Given the description of an element on the screen output the (x, y) to click on. 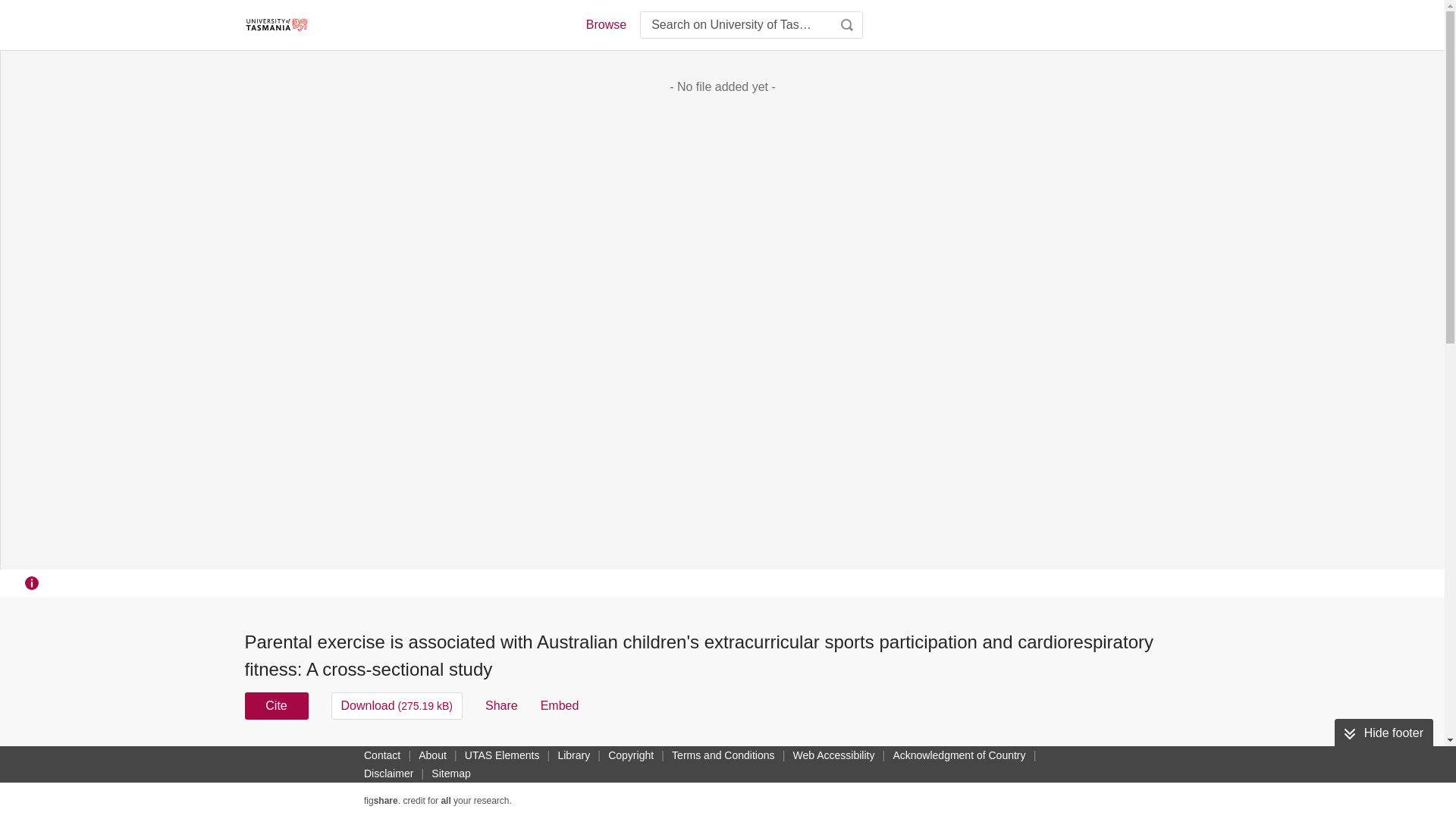
About (432, 755)
Embed (559, 705)
Christopher Blizzard (560, 764)
Hide footer (1383, 733)
Browse (605, 24)
Web Accessibility (834, 755)
USAGE METRICS (976, 759)
Terms and Conditions (722, 755)
Contact (381, 755)
Share (501, 705)
